Given the description of an element on the screen output the (x, y) to click on. 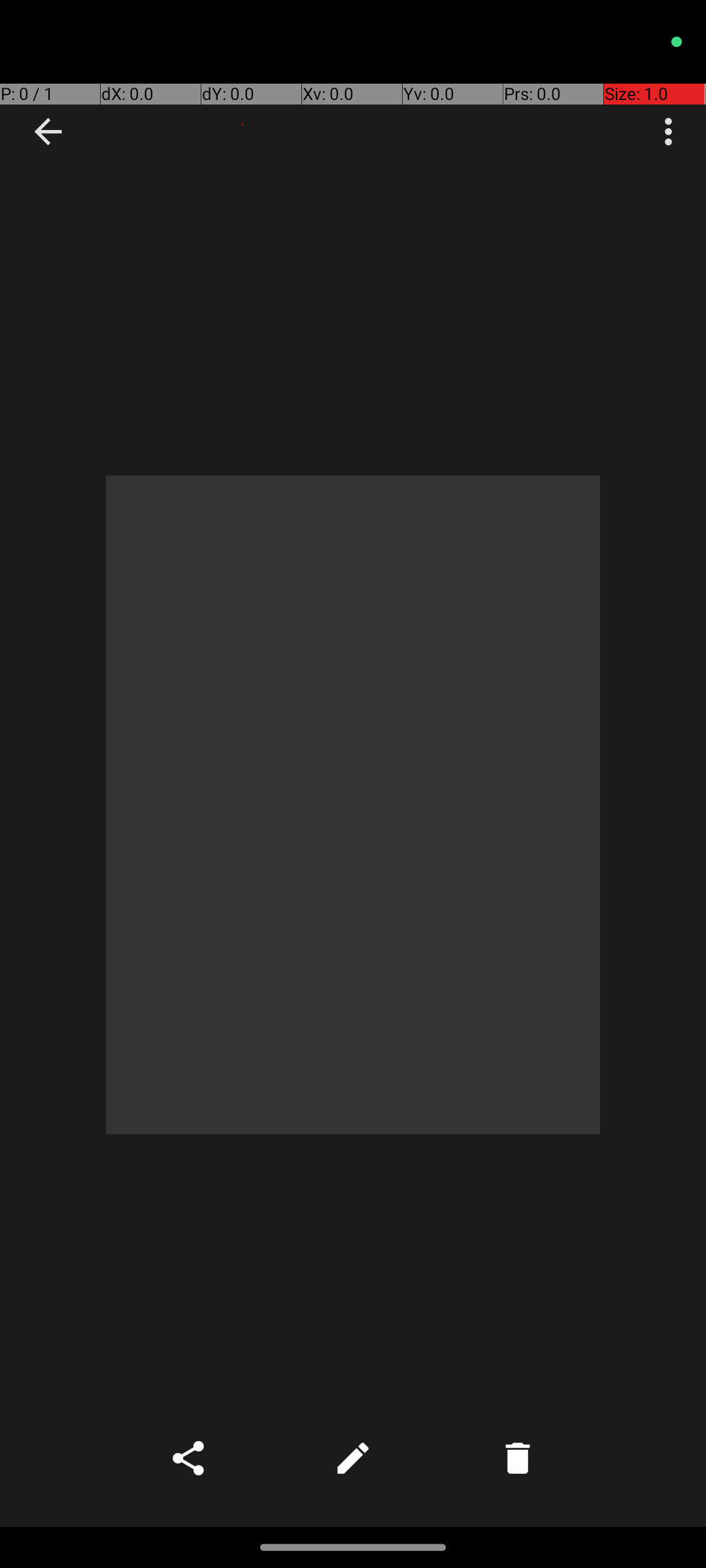
Edit Element type: android.widget.ImageButton (352, 1458)
Delete Element type: android.widget.ImageButton (517, 1458)
Navigate up Element type: android.widget.ImageButton (48, 131)
Photo taken on Oct 15, 2023 15:34:17 Element type: android.widget.ImageView (352, 804)
